Given the description of an element on the screen output the (x, y) to click on. 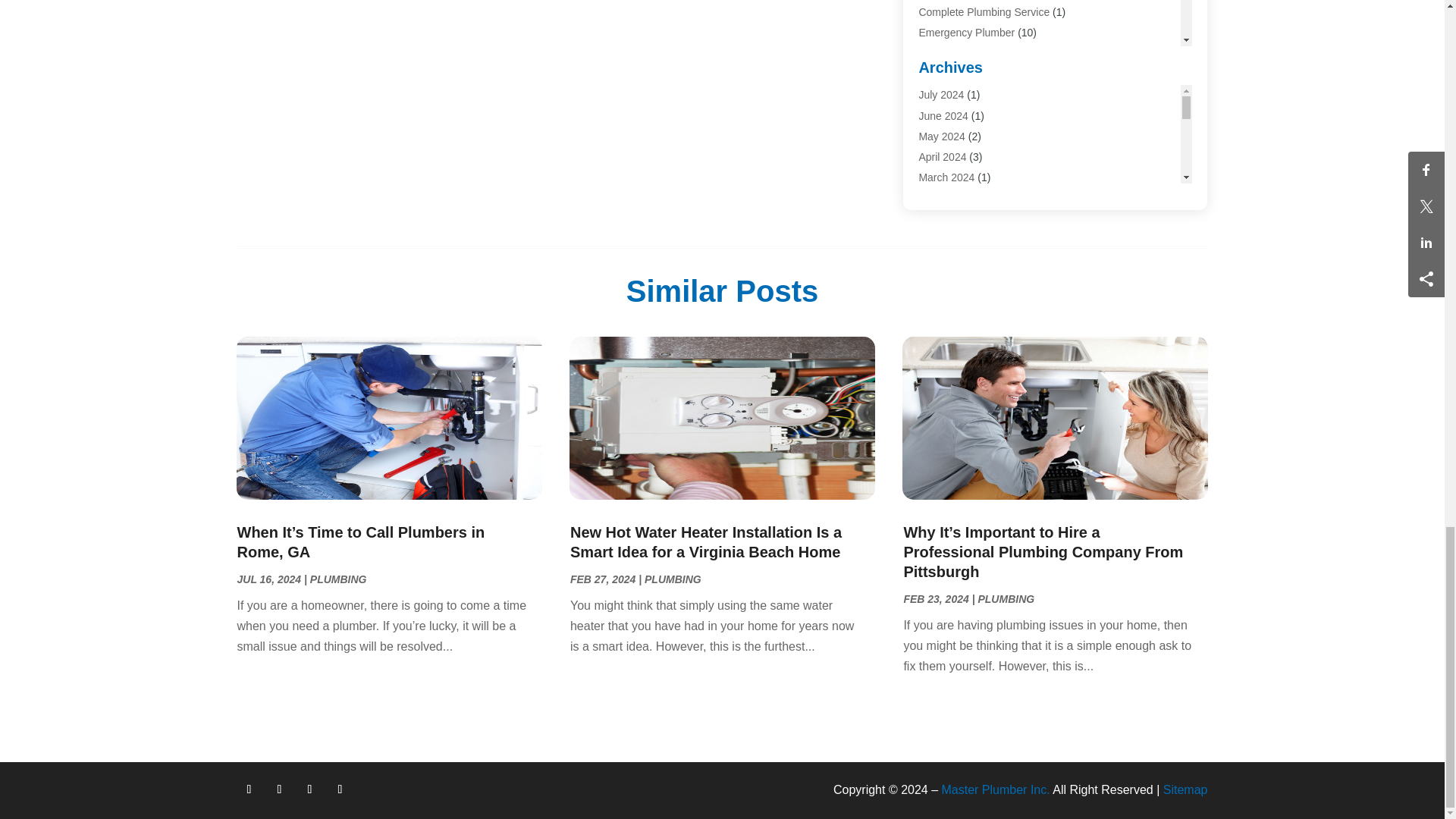
Follow on Facebook (247, 789)
Garbage Disposal Service (980, 52)
Plumbing (940, 135)
Emergency Plumber (966, 32)
Follow on Instagram (309, 789)
Plumbing Repairs (960, 197)
Plumbing Contractors (969, 155)
Plumber (938, 114)
Follow on X (278, 789)
Heating And Air Conditioning (985, 94)
Plumbing Problems (964, 176)
Complete Plumbing Service (983, 11)
Follow on Youtube (339, 789)
